Given the description of an element on the screen output the (x, y) to click on. 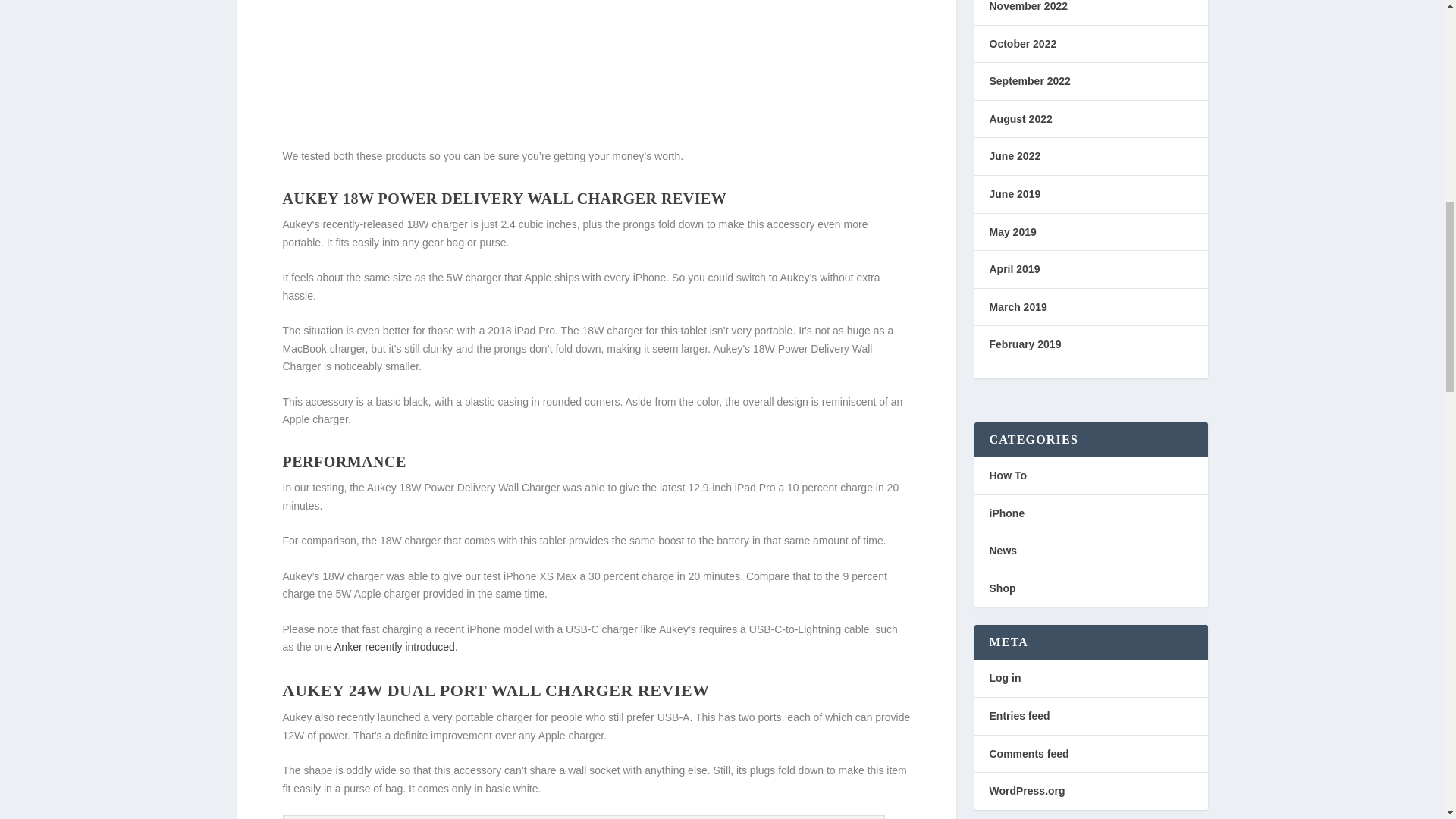
Advertisement (596, 70)
Anker recently introduced (394, 646)
